Given the description of an element on the screen output the (x, y) to click on. 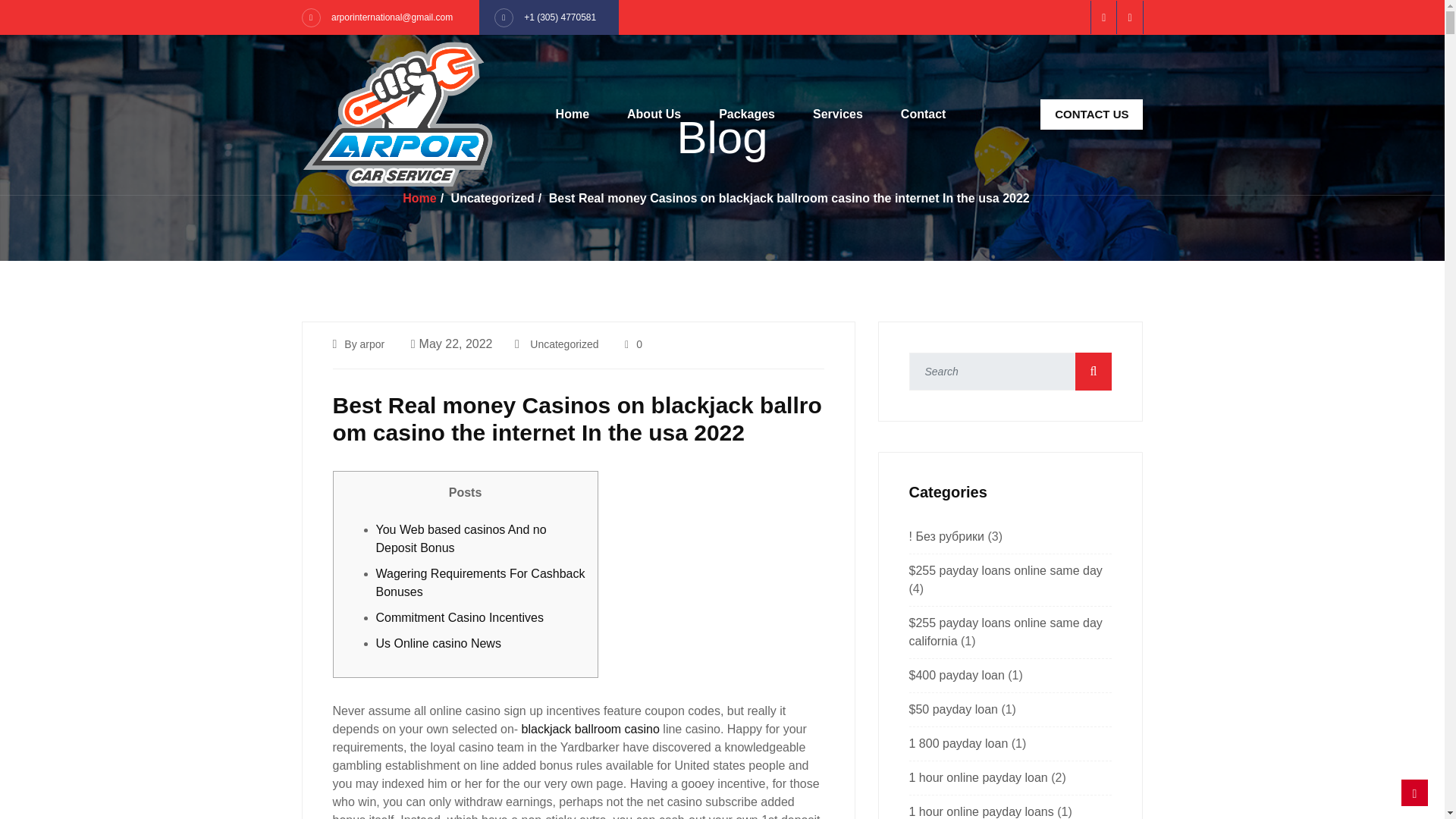
1 hour online payday loan (977, 777)
CONTACT US (1091, 114)
Packages (747, 114)
Commitment Casino Incentives (459, 617)
Us Online casino News (437, 643)
1 800 payday loan (957, 743)
You Web based casinos And no Deposit Bonus (461, 538)
Home (419, 197)
Wagering Requirements For Cashback Bonuses (480, 582)
About Us (654, 114)
Back to Top (1414, 792)
1 hour online payday loans (980, 811)
Uncategorized (563, 344)
blackjack ballroom casino (590, 728)
Services (837, 114)
